Given the description of an element on the screen output the (x, y) to click on. 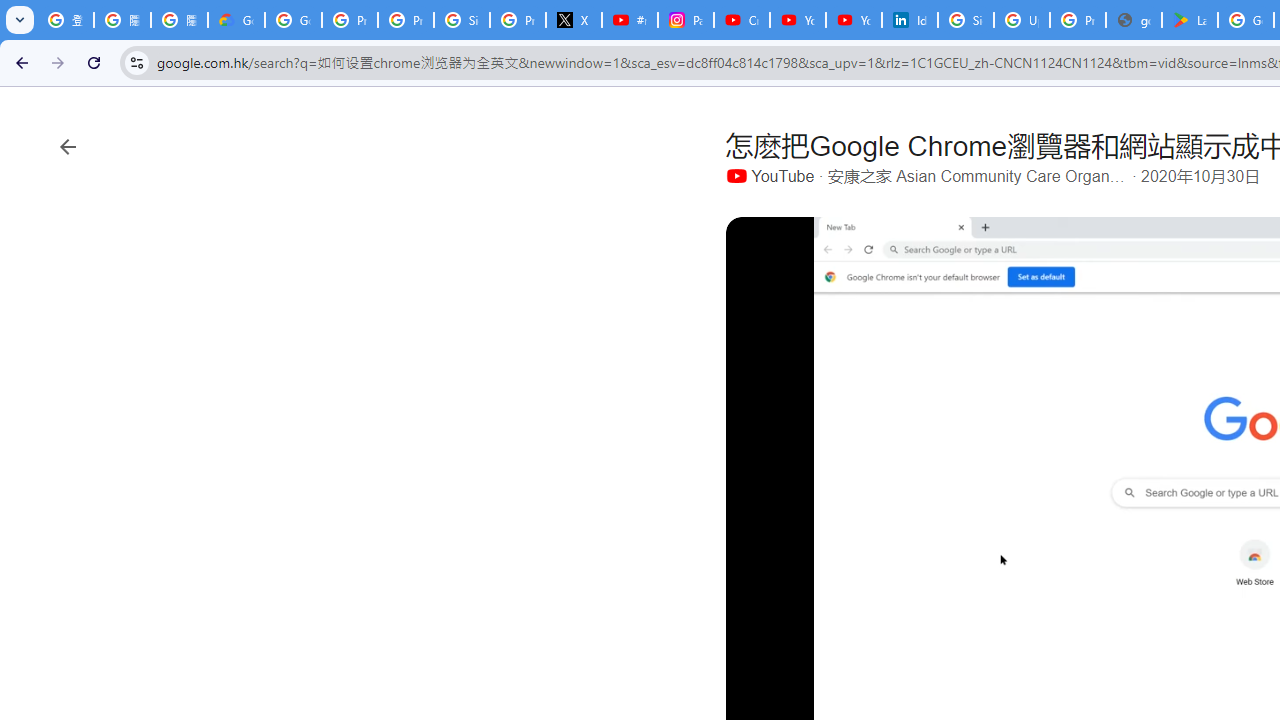
Privacy Help Center - Policies Help (405, 20)
Identity verification via Persona | LinkedIn Help (909, 20)
View site information (136, 62)
YouTube Culture & Trends - YouTube Top 10, 2021 (853, 20)
Sign in - Google Accounts (461, 20)
System (10, 11)
Last Shelter: Survival - Apps on Google Play (1190, 20)
Forward (57, 62)
google_privacy_policy_en.pdf (1133, 20)
